Given the description of an element on the screen output the (x, y) to click on. 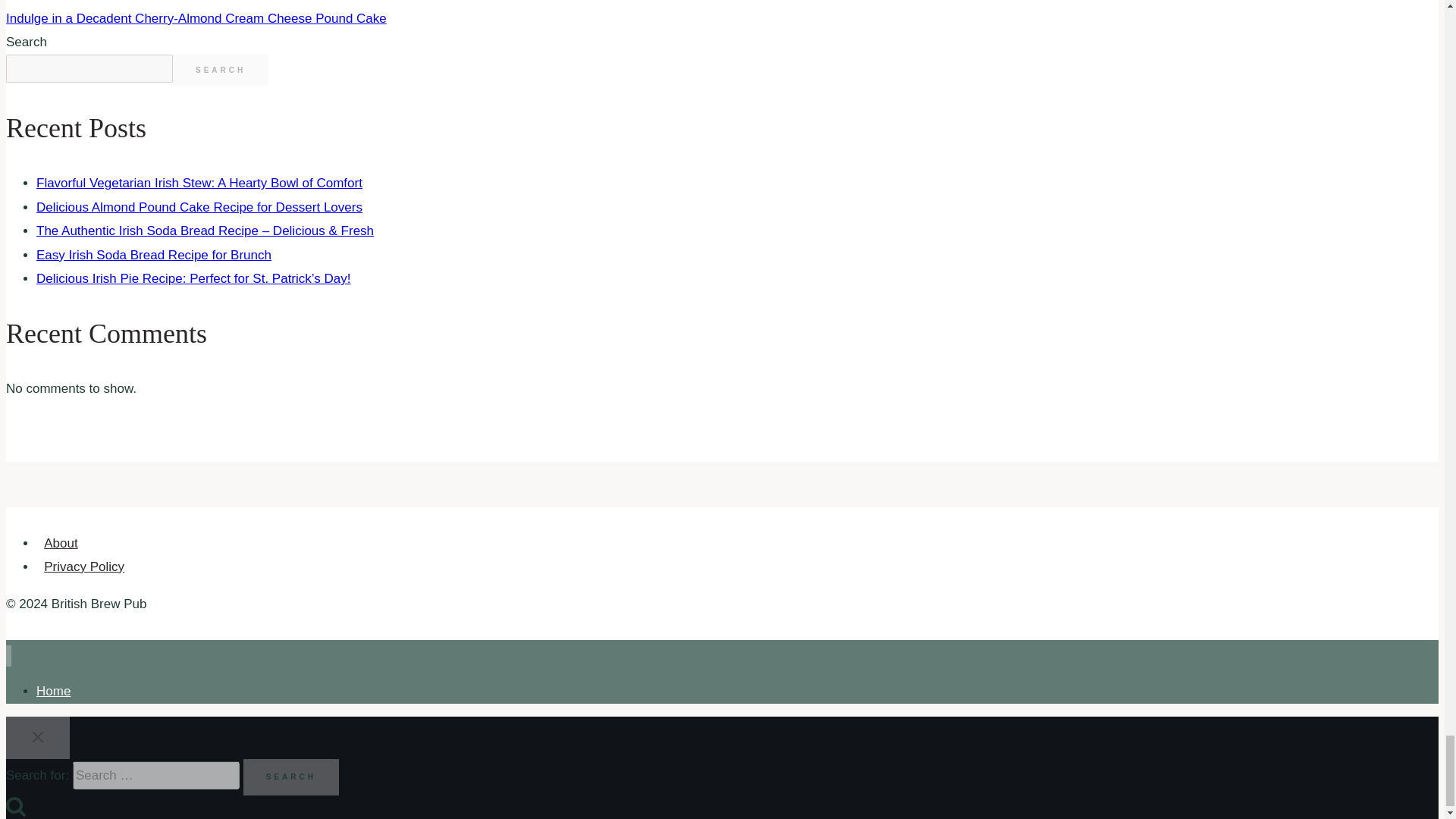
Search (291, 777)
TOGGLE MENU CLOSE (37, 737)
Search (291, 777)
Search (15, 805)
